Given the description of an element on the screen output the (x, y) to click on. 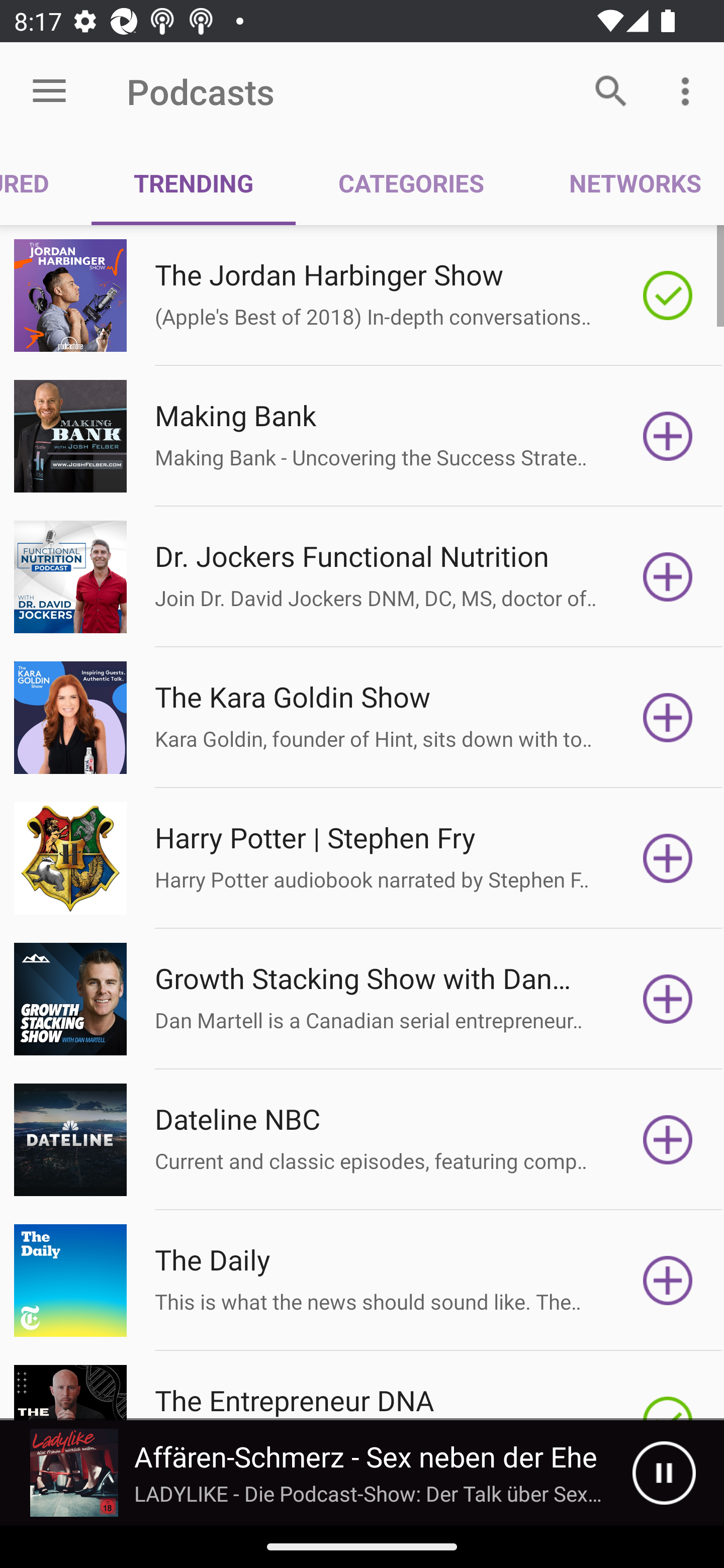
Open menu (49, 91)
Search (611, 90)
More options (688, 90)
TRENDING (193, 183)
CATEGORIES (410, 183)
NETWORKS (625, 183)
Subscribed (667, 295)
Subscribe (667, 435)
Subscribe (667, 576)
Subscribe (667, 717)
Subscribe (667, 858)
Subscribe (667, 998)
Subscribe (667, 1139)
Subscribe (667, 1280)
Pause (663, 1472)
